Given the description of an element on the screen output the (x, y) to click on. 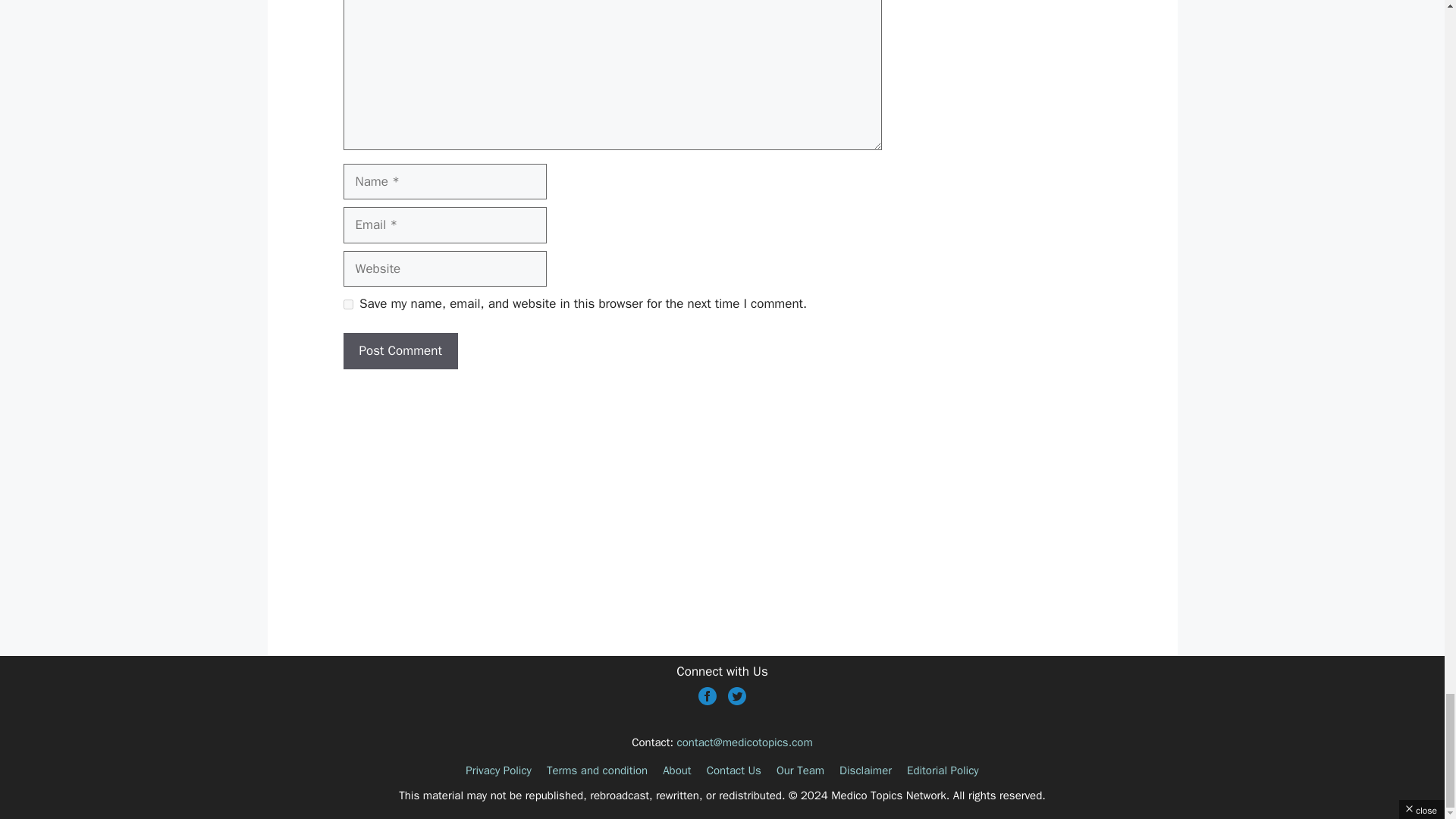
Post Comment (399, 350)
yes (347, 304)
